Given the description of an element on the screen output the (x, y) to click on. 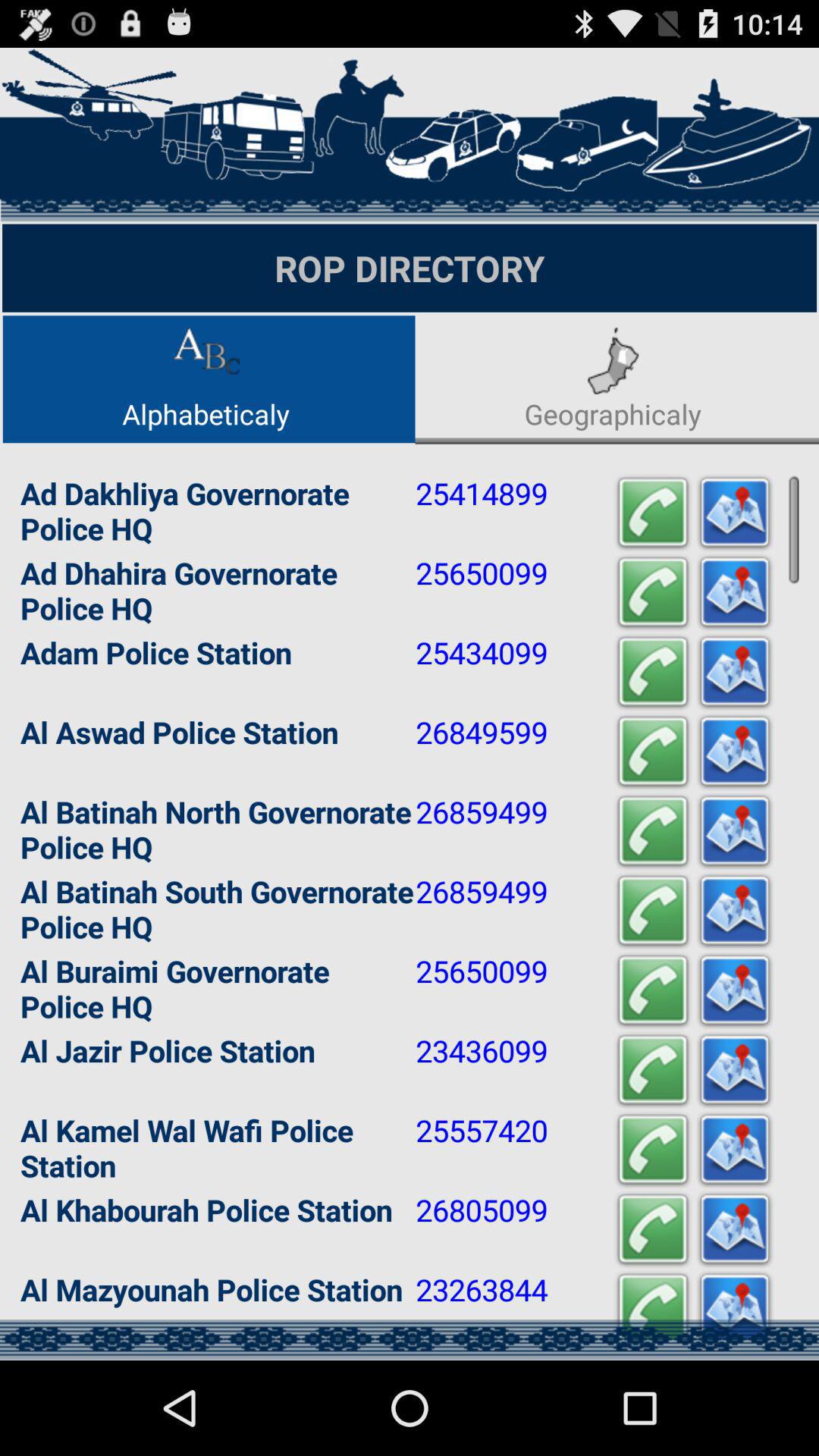
show location on map (734, 672)
